Given the description of an element on the screen output the (x, y) to click on. 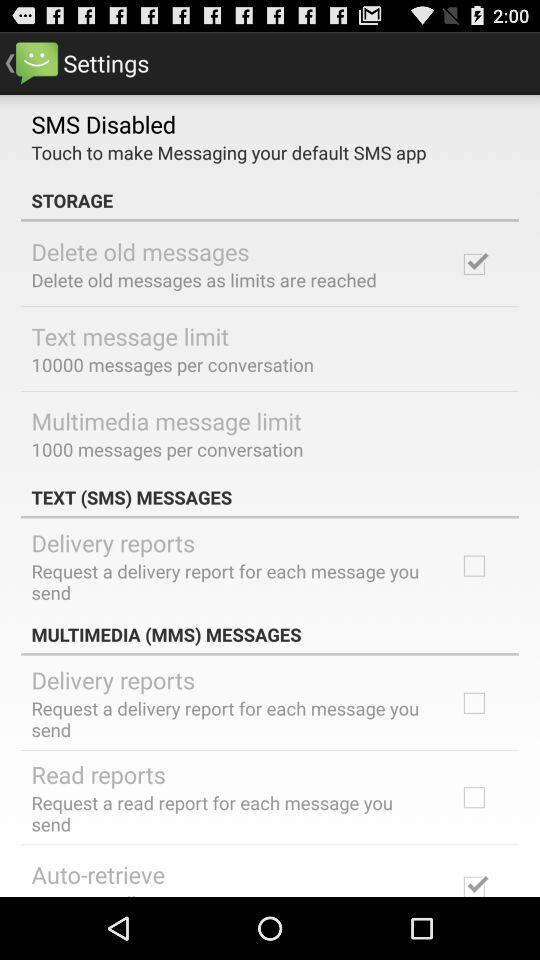
turn off app below sms disabled (228, 151)
